Given the description of an element on the screen output the (x, y) to click on. 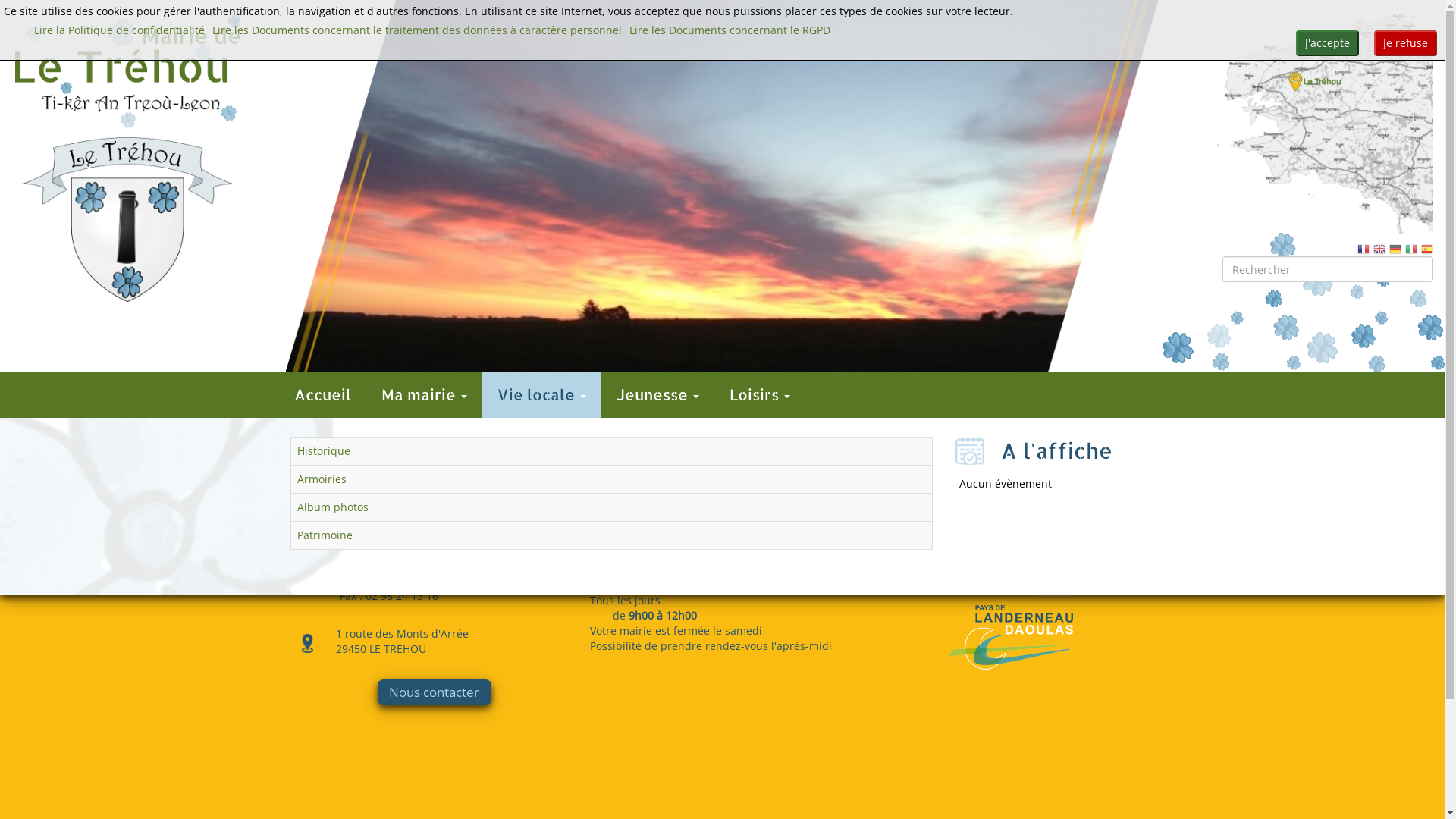
Loisirs Element type: text (759, 394)
Album photos Element type: text (332, 506)
Spanish Element type: hover (1427, 248)
Patrimoine Element type: text (324, 534)
< Element type: text (300, 182)
Accueil Element type: text (322, 394)
Italian Element type: hover (1411, 248)
Lire les Documents concernant le RGPD Element type: text (729, 29)
English Element type: hover (1379, 248)
Vie locale Element type: text (541, 394)
Historique Element type: text (323, 450)
Nous contacter Element type: text (434, 691)
J'accepte Element type: text (1326, 43)
Je refuse Element type: text (1405, 43)
Armoiries Element type: text (321, 478)
German Element type: hover (1395, 248)
Ma mairie Element type: text (423, 394)
> Element type: text (1142, 182)
Jeunesse Element type: text (656, 394)
French Element type: hover (1363, 248)
